Given the description of an element on the screen output the (x, y) to click on. 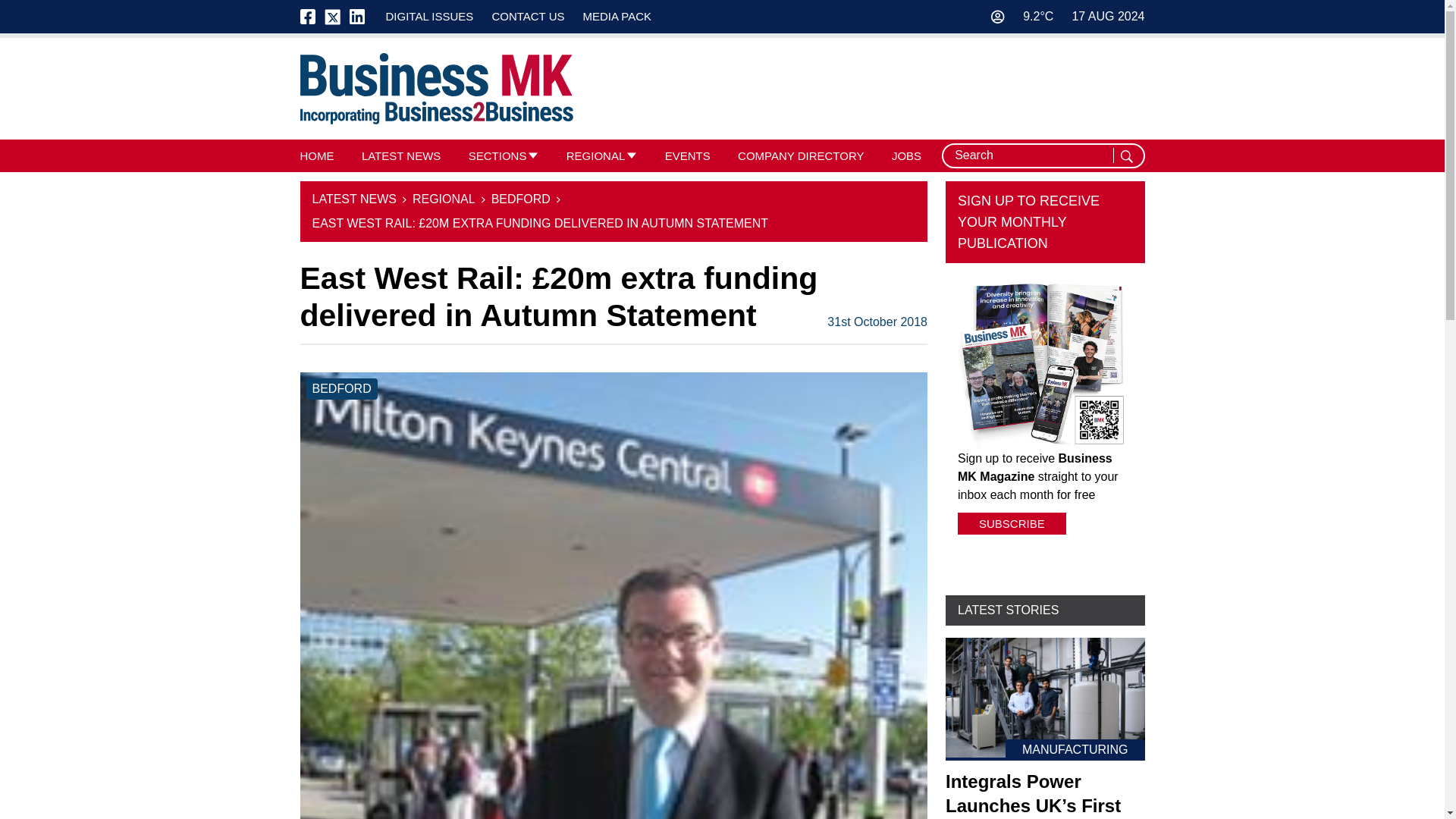
CONTACT US (528, 15)
Go to the Regional Category archives. (444, 198)
Go to the Bedford Category archives. (521, 198)
LATEST NEWS (401, 155)
See all bedford (341, 388)
REGIONAL (596, 155)
Search (1128, 155)
Business MK on Twitter (332, 17)
MEDIA PACK (616, 15)
Go to Latest News. (354, 198)
